Given the description of an element on the screen output the (x, y) to click on. 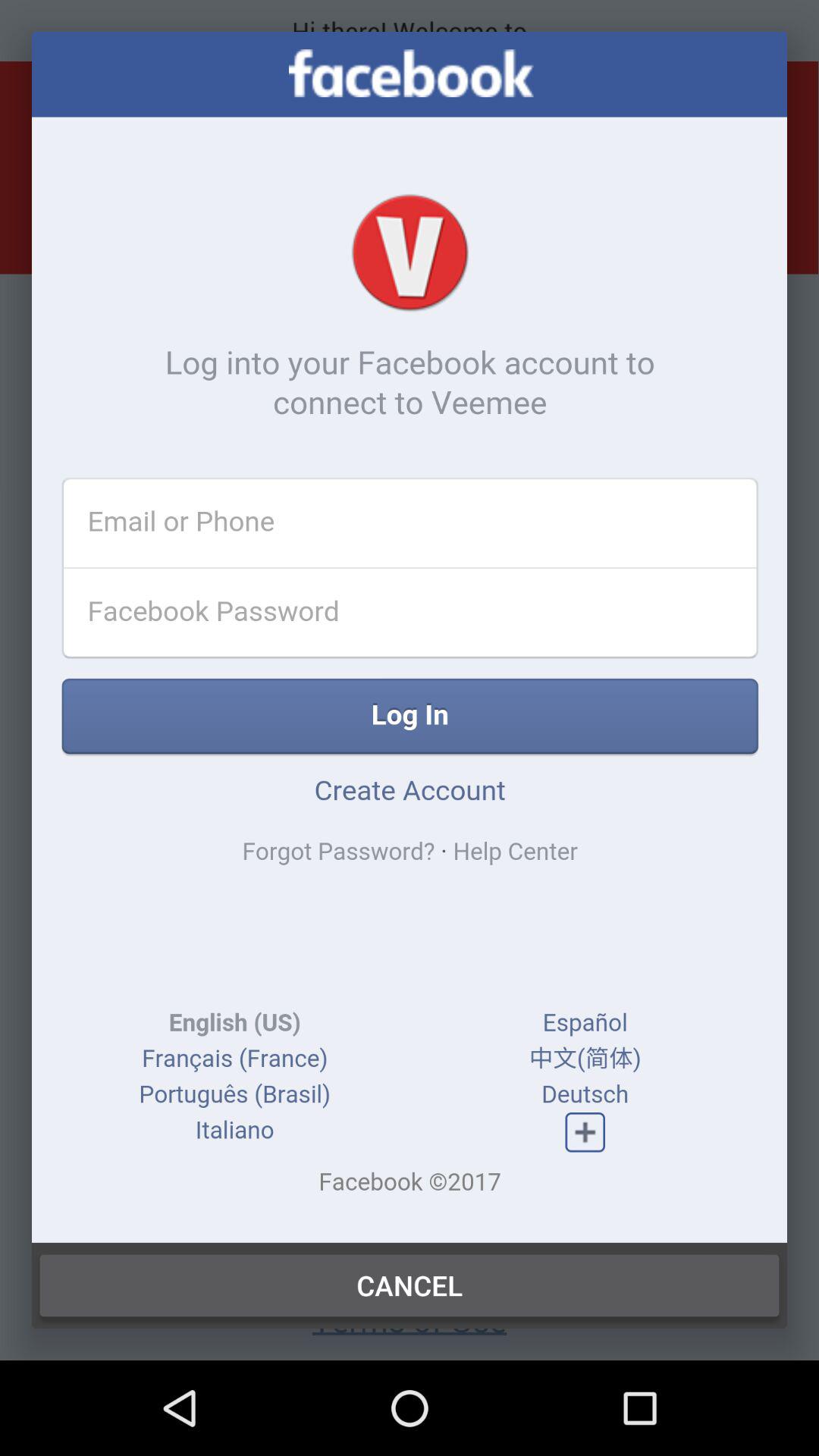
facebook login (409, 636)
